Given the description of an element on the screen output the (x, y) to click on. 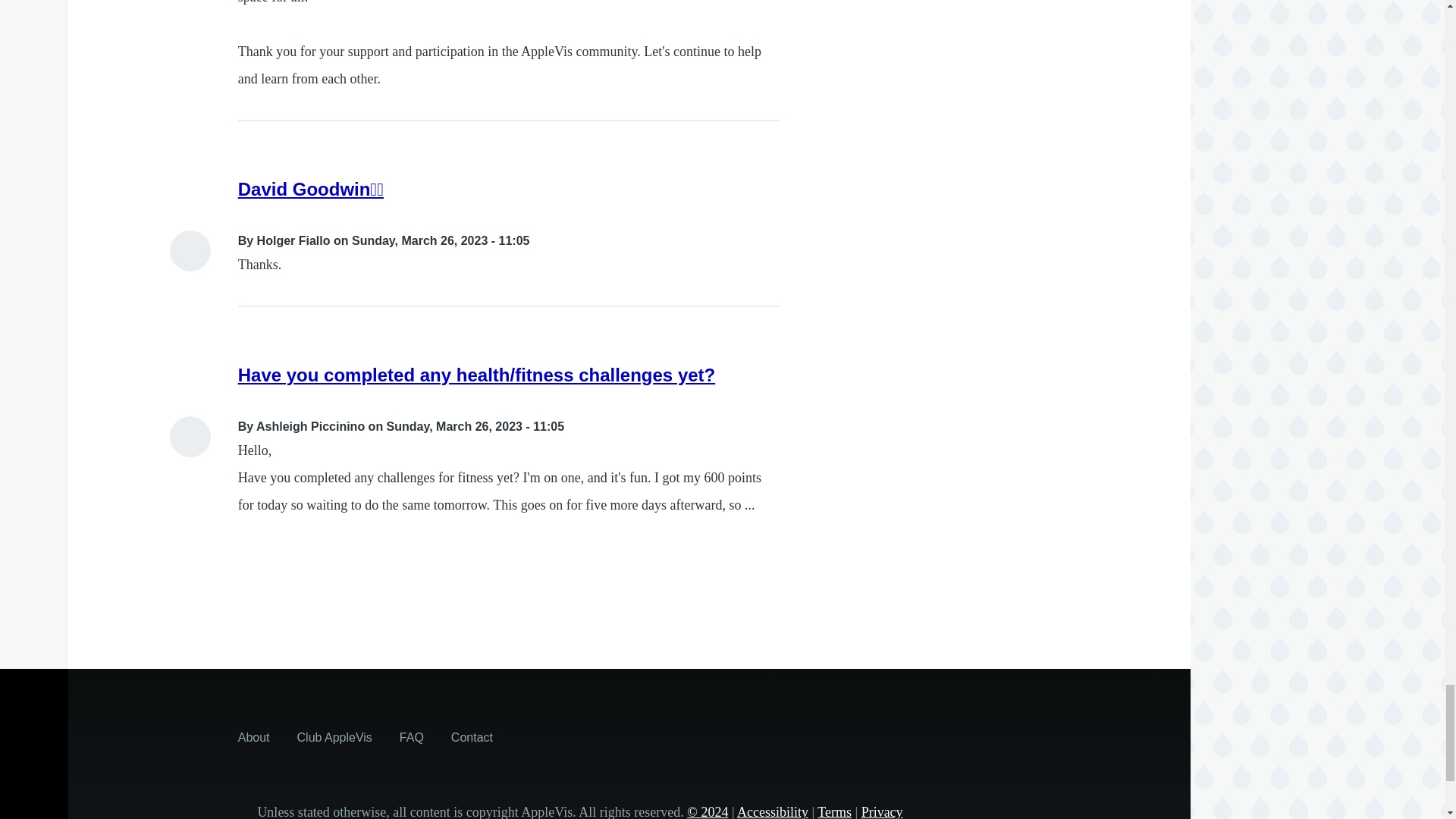
Answers to some frequently asked questions about AppleVis (410, 737)
About (253, 737)
